Given the description of an element on the screen output the (x, y) to click on. 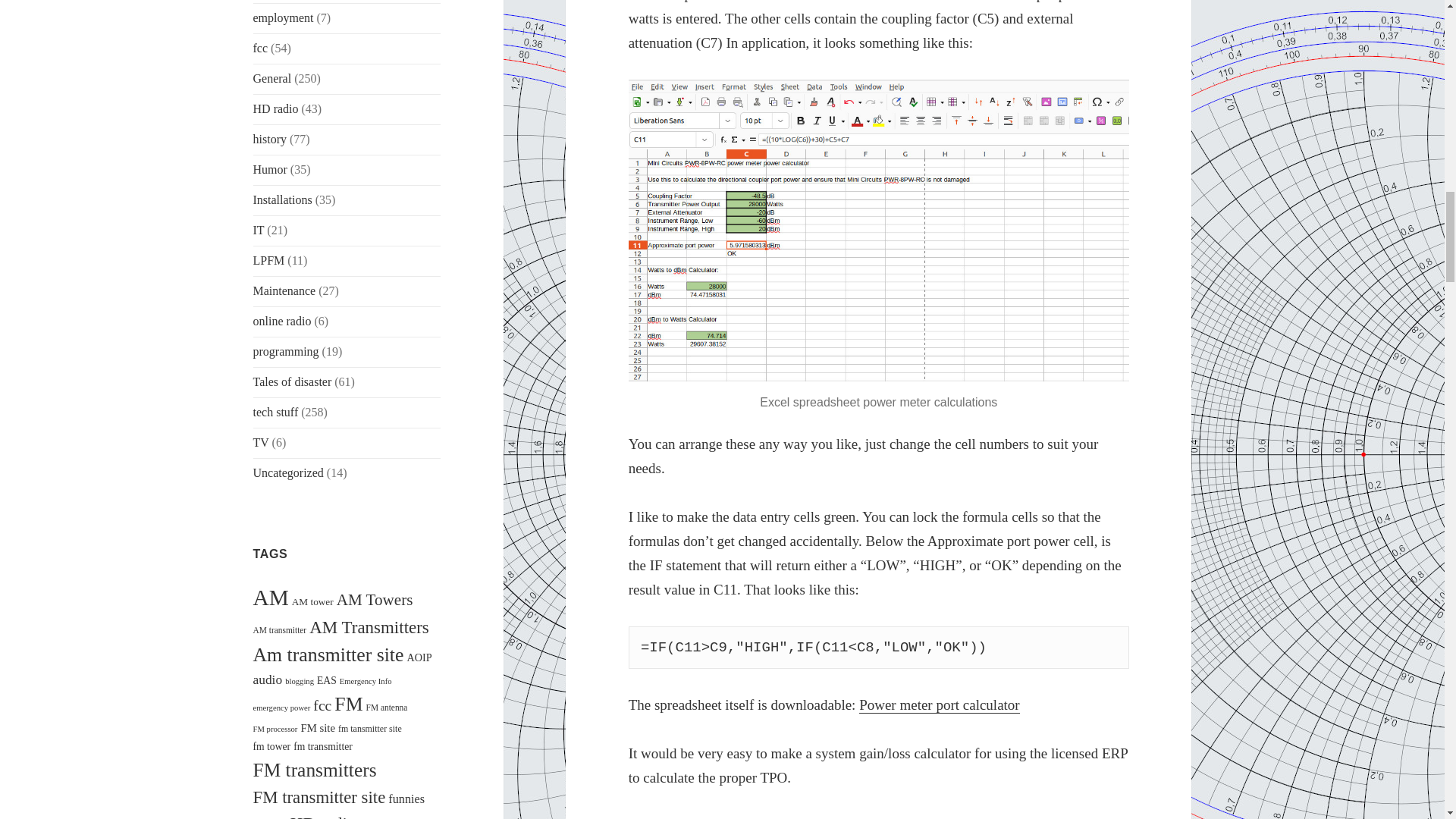
LPFM (269, 259)
General (272, 78)
Humor (269, 169)
Maintenance (284, 290)
Installations (283, 199)
employment (283, 17)
HD radio (275, 108)
fcc (260, 47)
history (269, 138)
